Given the description of an element on the screen output the (x, y) to click on. 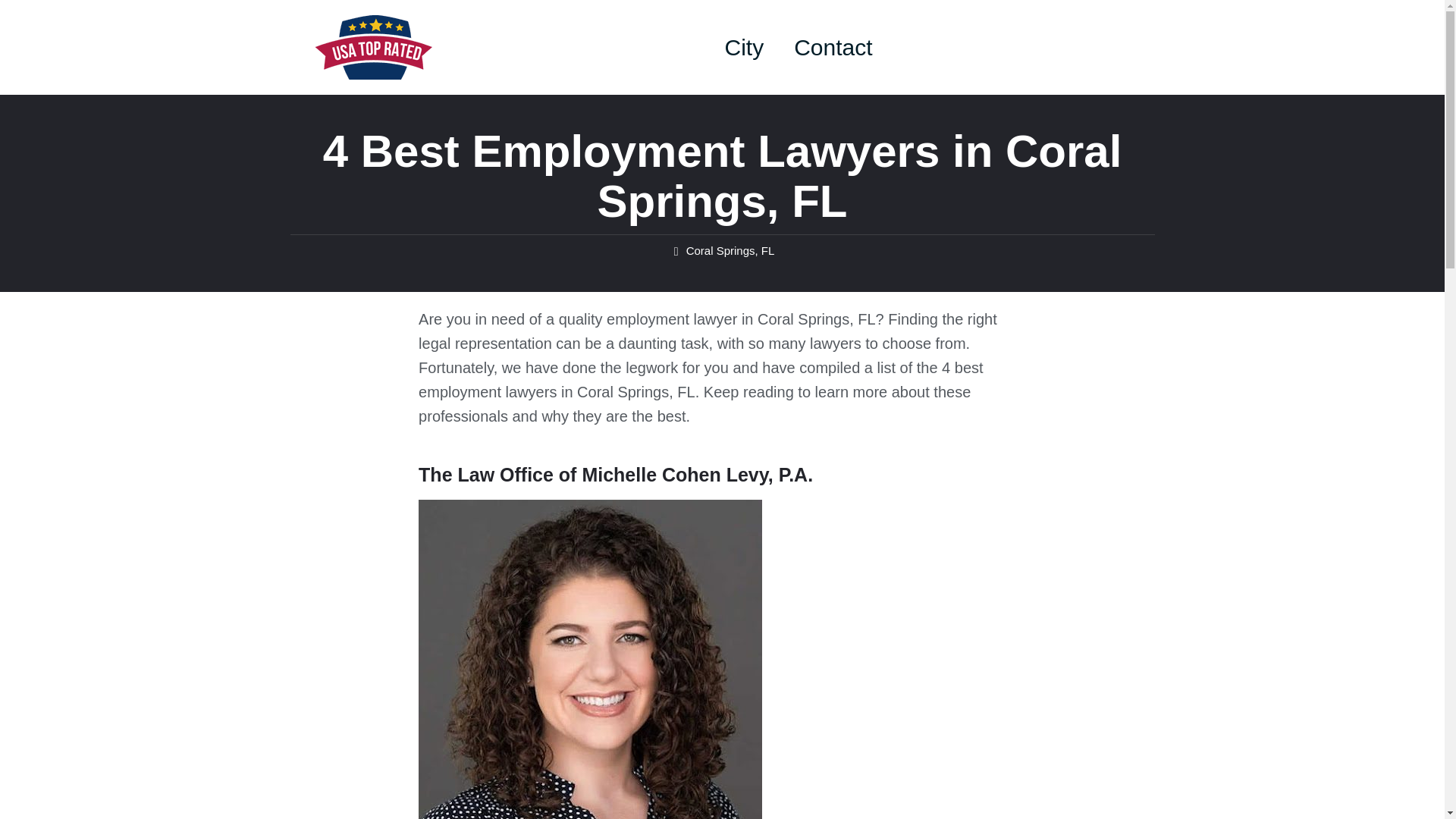
Contact (832, 47)
City (744, 47)
Coral Springs, FL (729, 250)
